Given the description of an element on the screen output the (x, y) to click on. 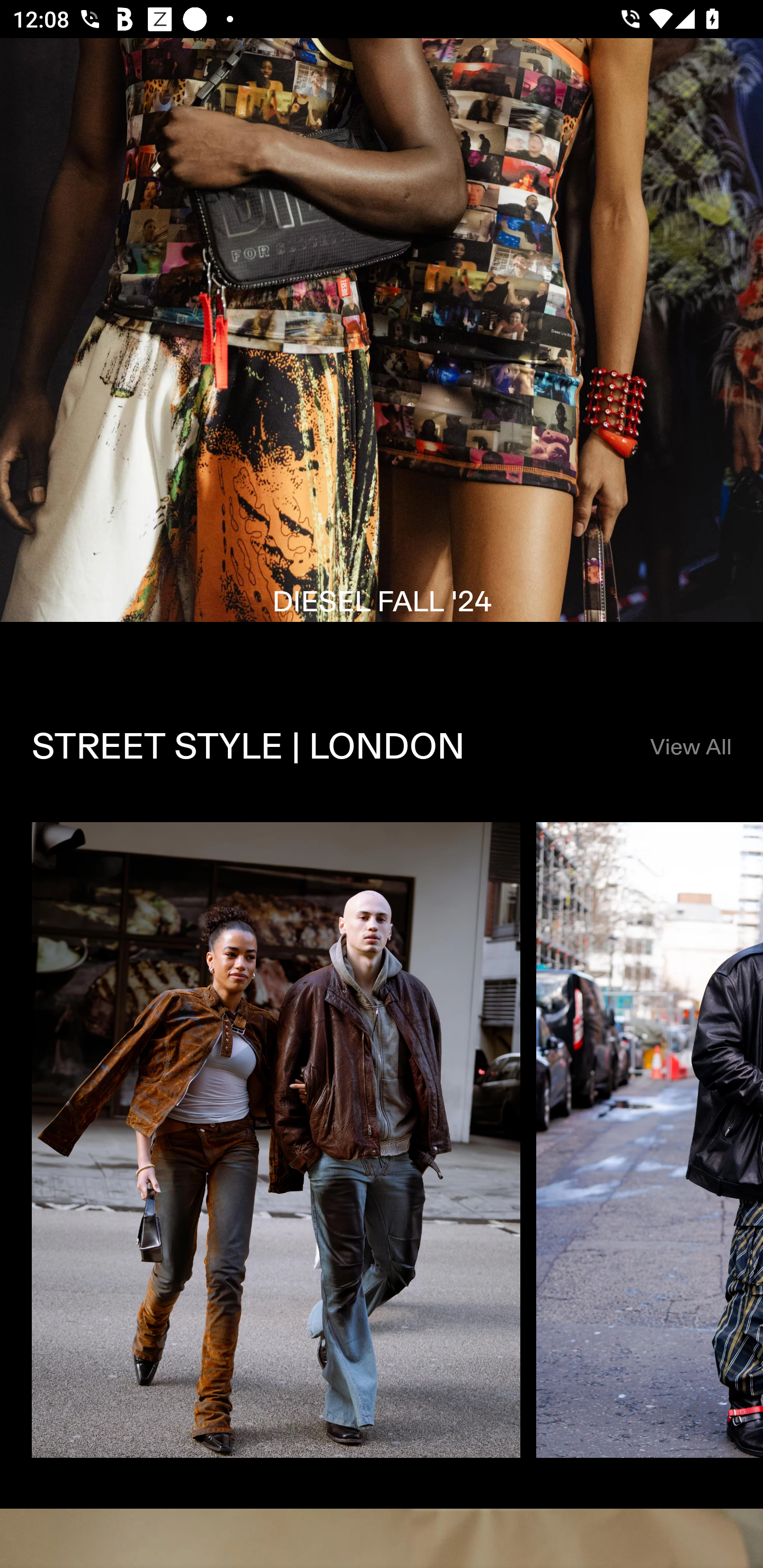
FIRST LOOKS DIESEL FALL '24 (381, 354)
View All (690, 747)
